Given the description of an element on the screen output the (x, y) to click on. 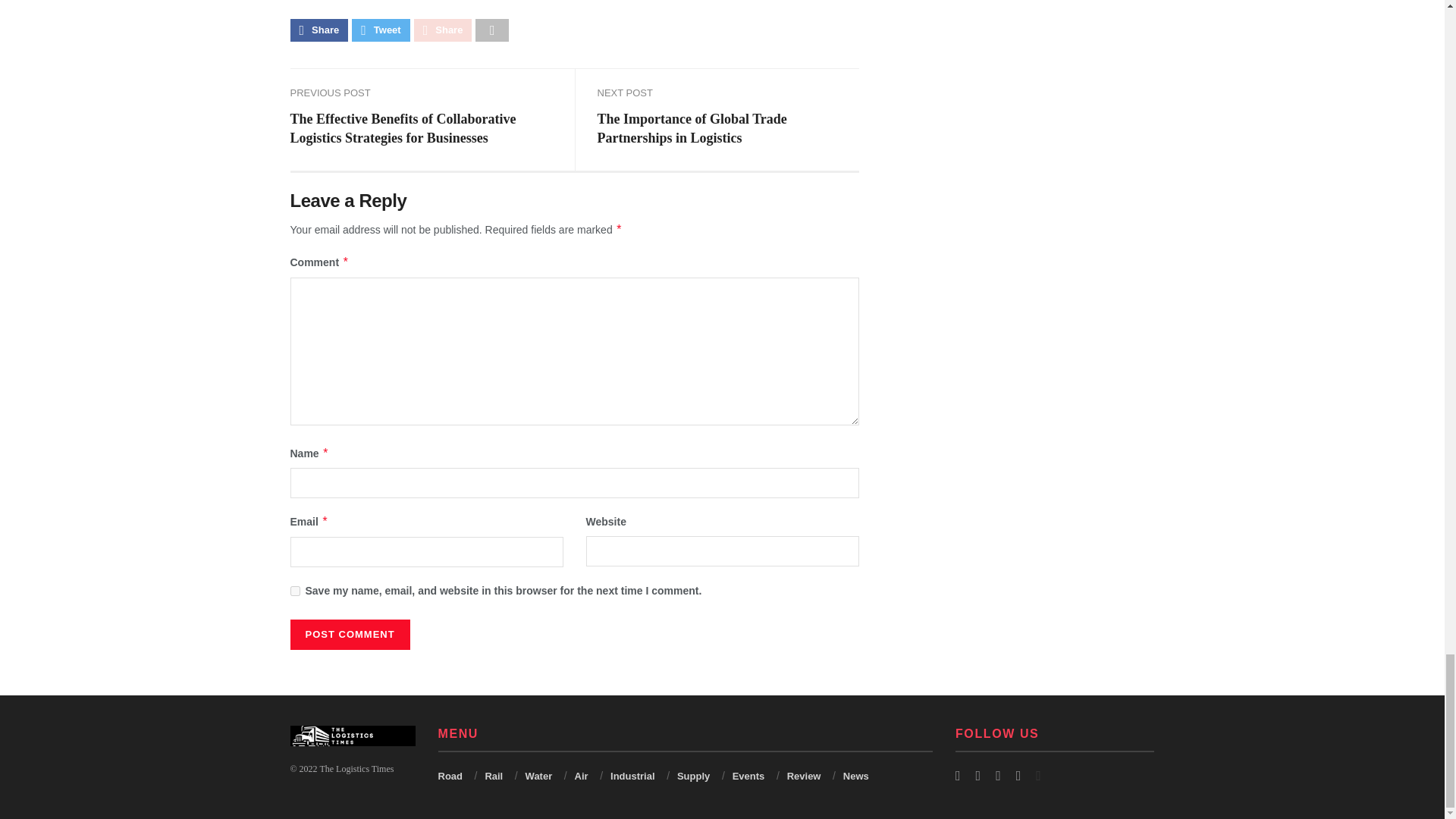
Tweet (380, 29)
Share (318, 29)
Post Comment (349, 634)
yes (294, 591)
